Given the description of an element on the screen output the (x, y) to click on. 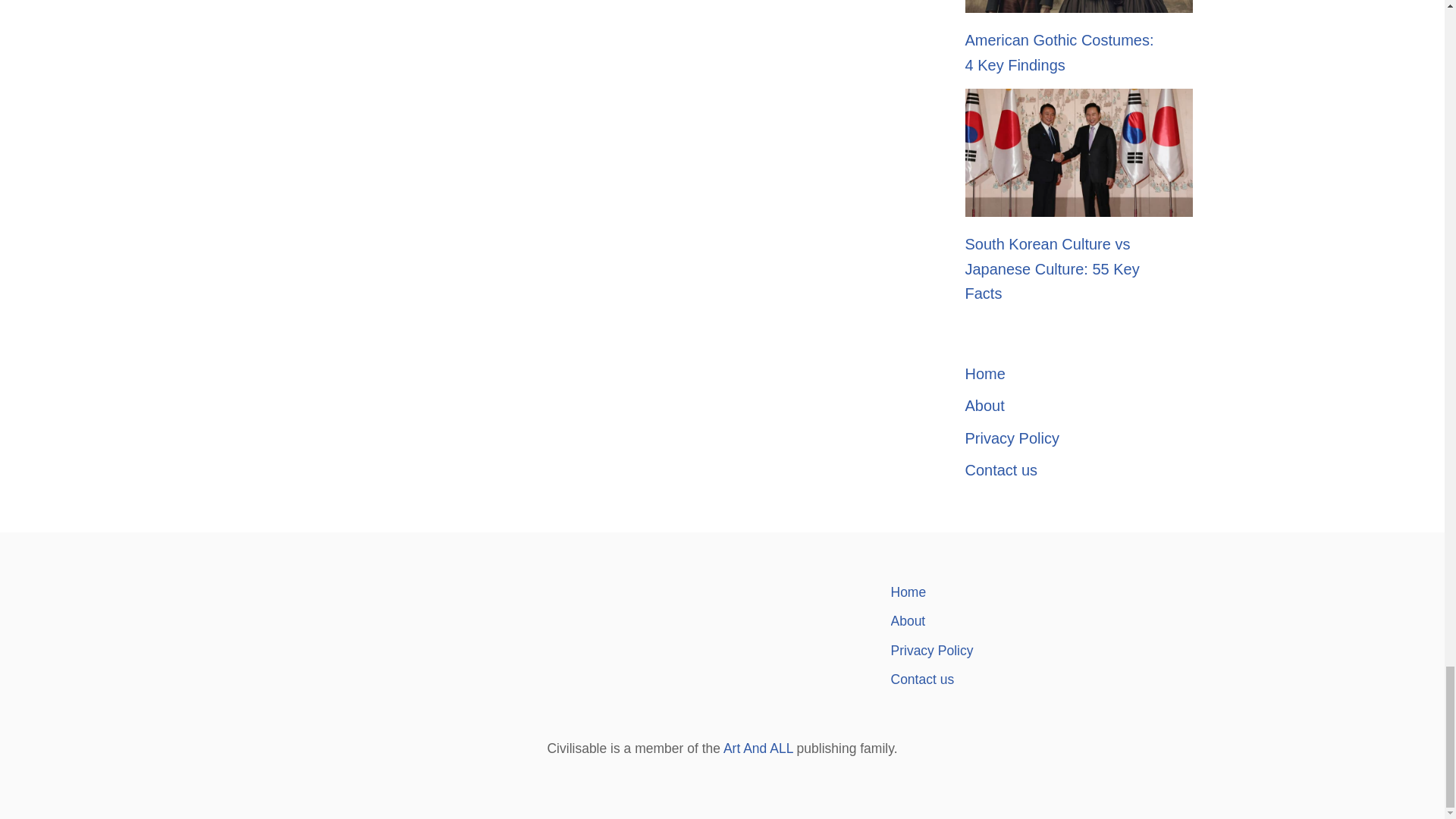
American Gothic Costumes: 4 Key Findings (1058, 52)
Privacy Policy (1062, 438)
Home (1062, 373)
About (1062, 405)
South Korean Culture vs Japanese Culture: 55 Key Facts (1050, 268)
